Given the description of an element on the screen output the (x, y) to click on. 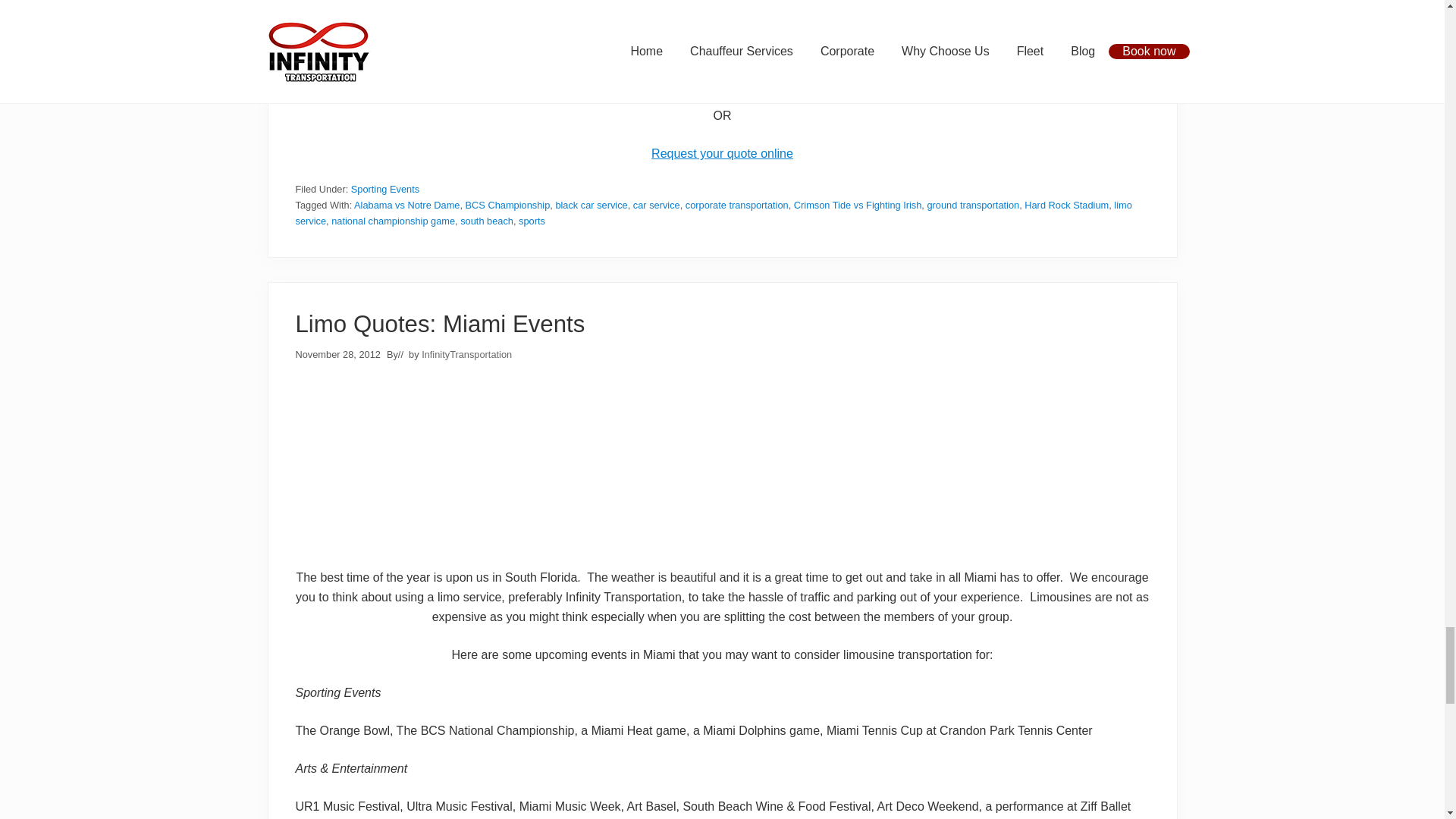
Infinity Transportation (721, 24)
Reservations and Quotes (721, 153)
Limo Quotes (721, 468)
